Given the description of an element on the screen output the (x, y) to click on. 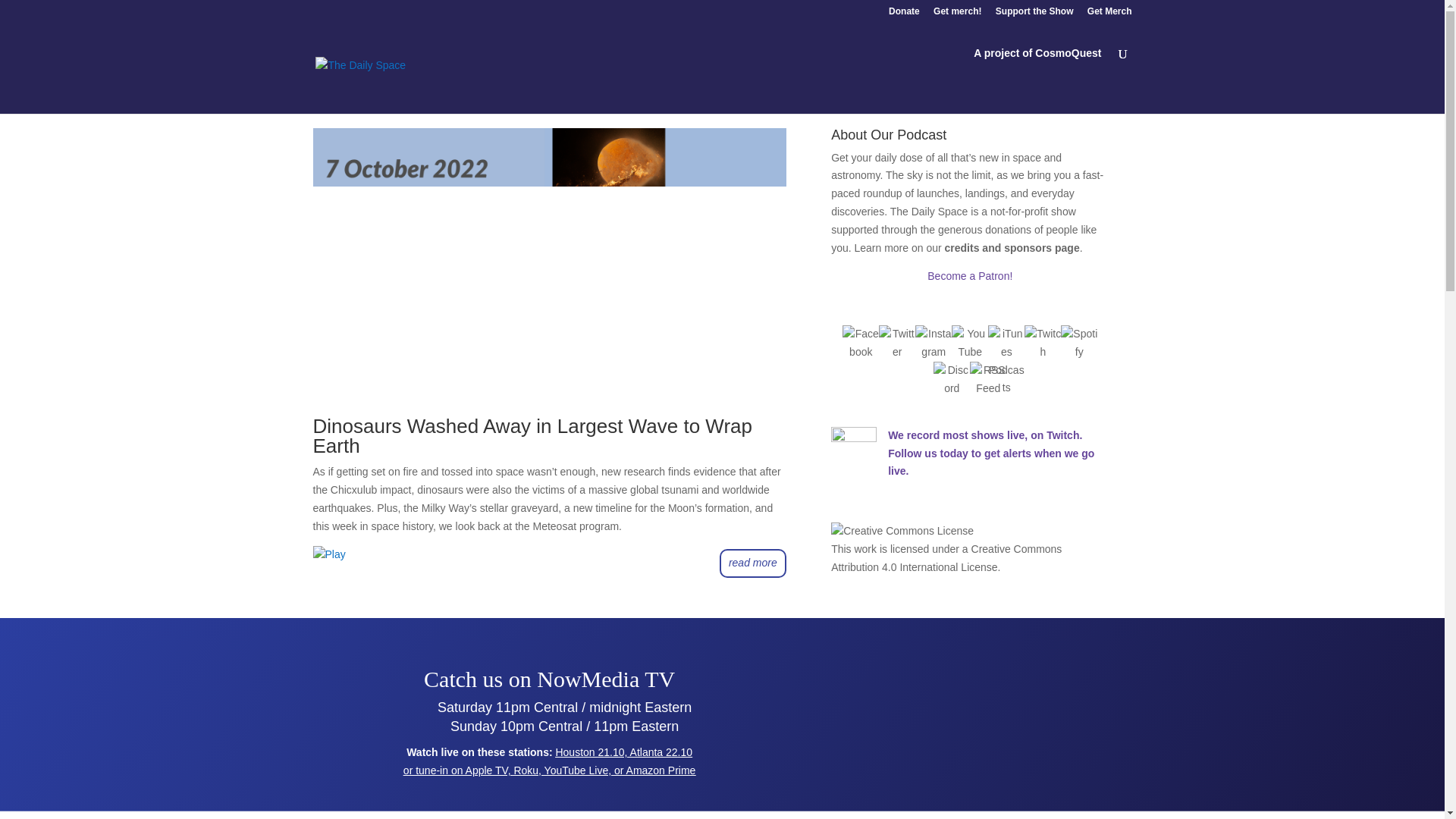
Support the Show (1034, 14)
Donate (904, 14)
iTunes Podcasts (1006, 343)
Facebook (861, 343)
Creative Commons Attribution 4.0 International License (946, 557)
Twitter (897, 343)
or tune-in on Apple TV, Roku, YouTube Live, or Amazon Prime (549, 770)
Play (329, 553)
Get merch! (957, 14)
YouTube (970, 343)
